Given the description of an element on the screen output the (x, y) to click on. 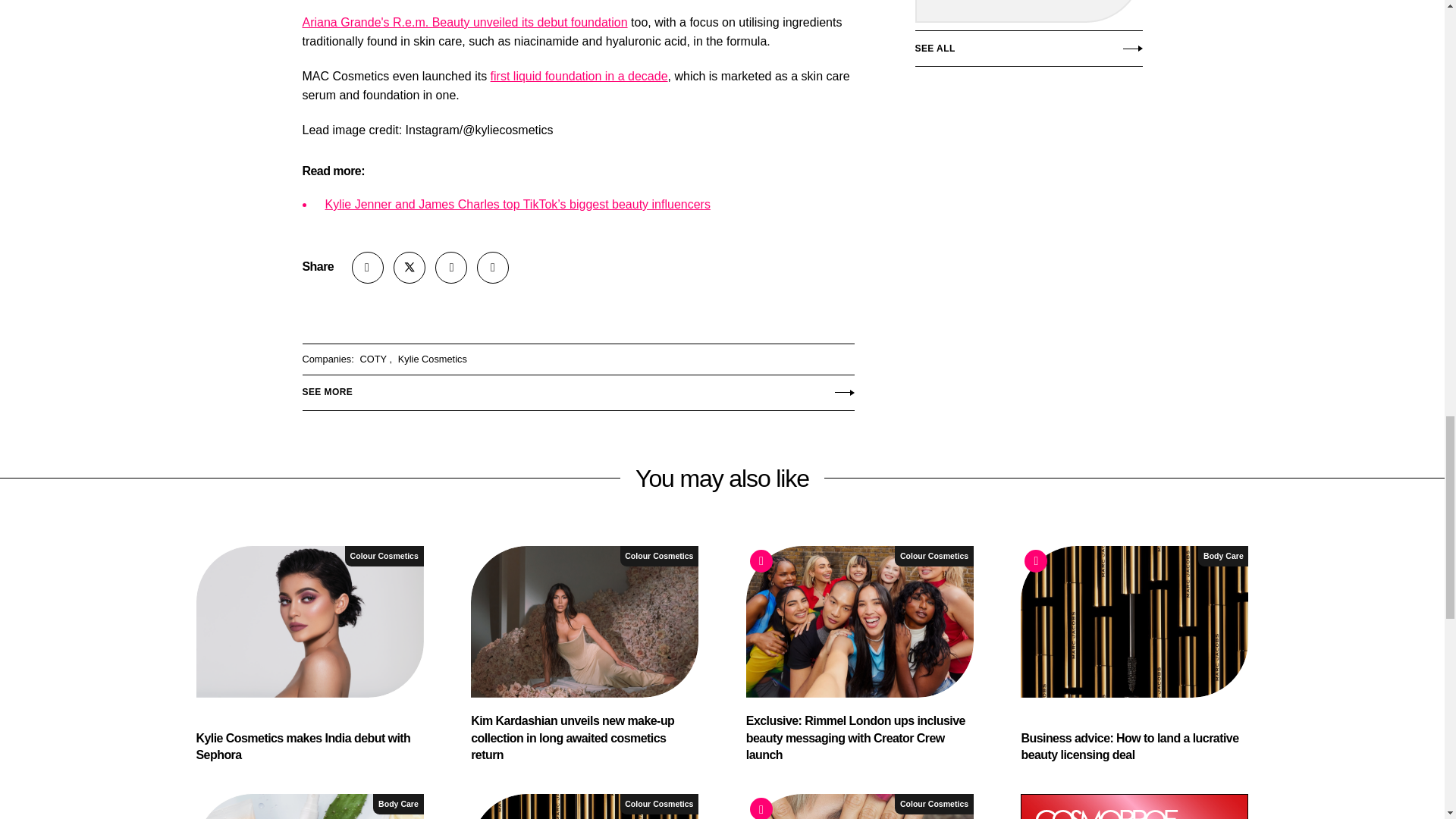
Follow Cosmetics Business on X (409, 267)
Share this article (368, 267)
Follow Cosmetics Business on LinkedIn (451, 267)
